Given the description of an element on the screen output the (x, y) to click on. 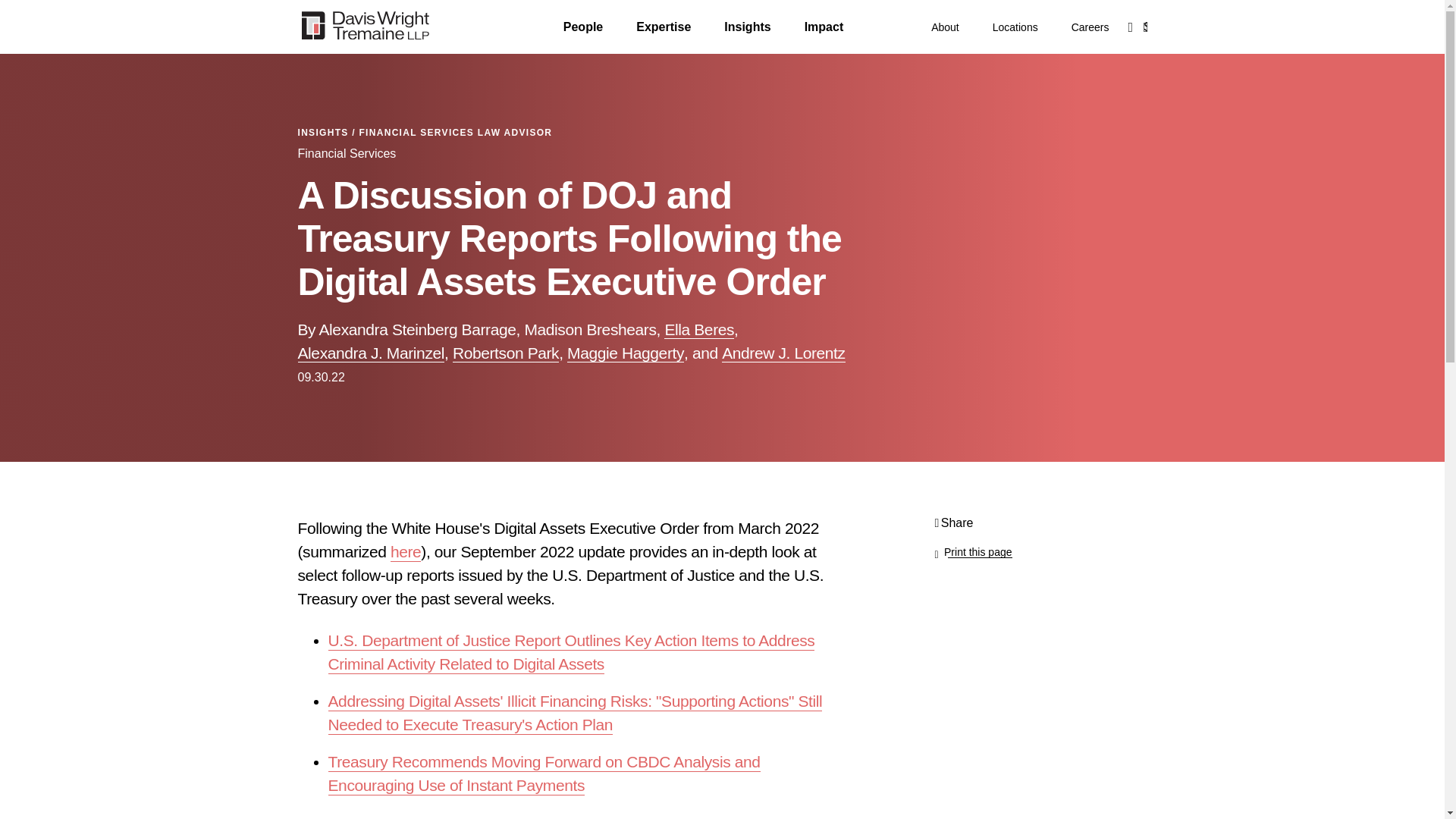
Careers (1090, 27)
About (945, 27)
Maggie Haggerty (625, 352)
Expertise (663, 27)
Insights (746, 27)
Financial Services (346, 153)
here (405, 551)
Alexandra J. Marinzel (370, 352)
Ella Beres (698, 330)
Impact (824, 27)
Robertson Park (505, 352)
